Given the description of an element on the screen output the (x, y) to click on. 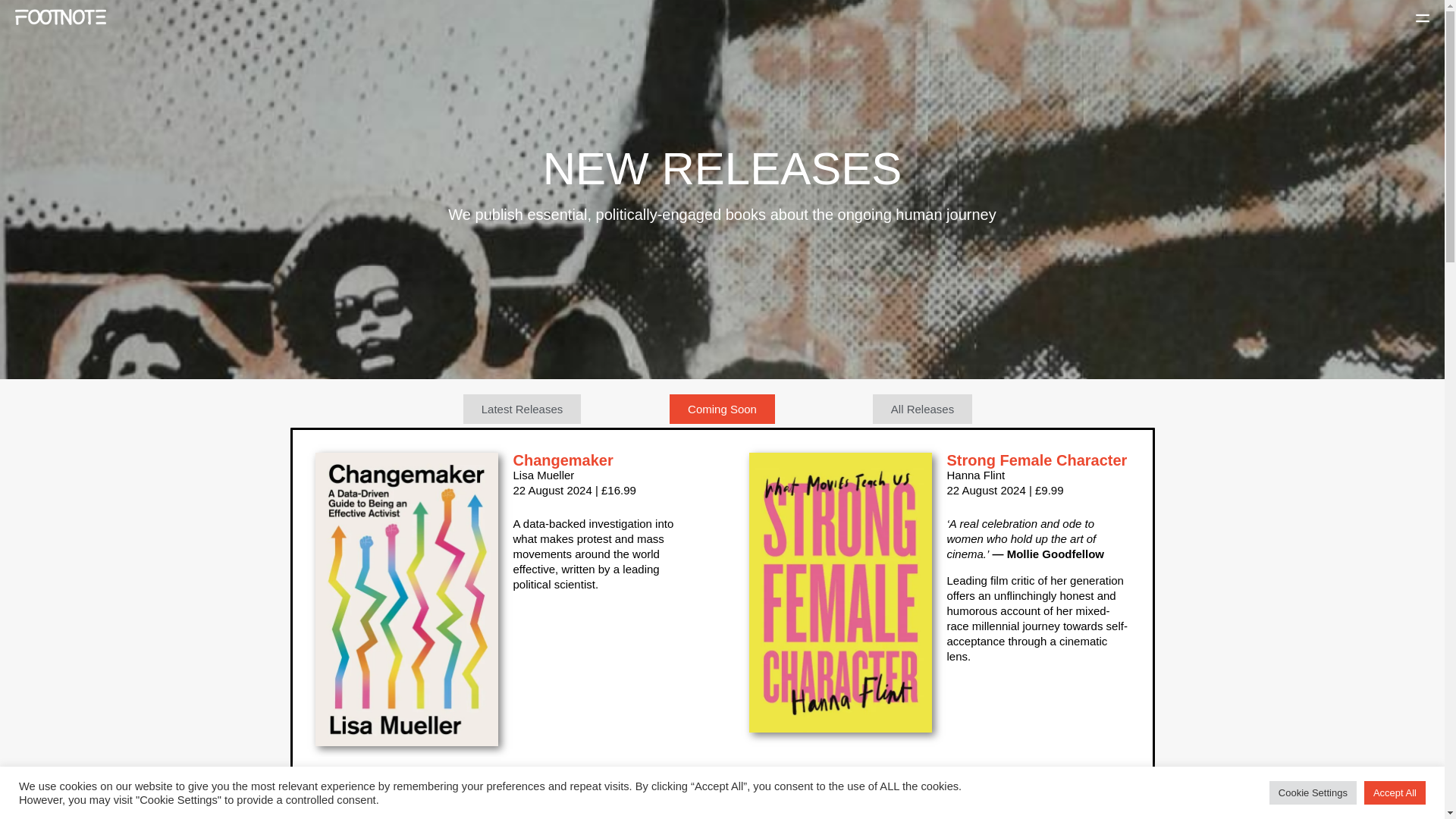
9781804440995 (406, 809)
Strong Female Character (1036, 460)
Latest Releases (521, 408)
Coming Soon (721, 408)
Changemaker (562, 460)
A Bollywood State of Mind (1021, 808)
All Releases (922, 408)
9781804440421 (840, 809)
Hotel Lux (546, 806)
